Given the description of an element on the screen output the (x, y) to click on. 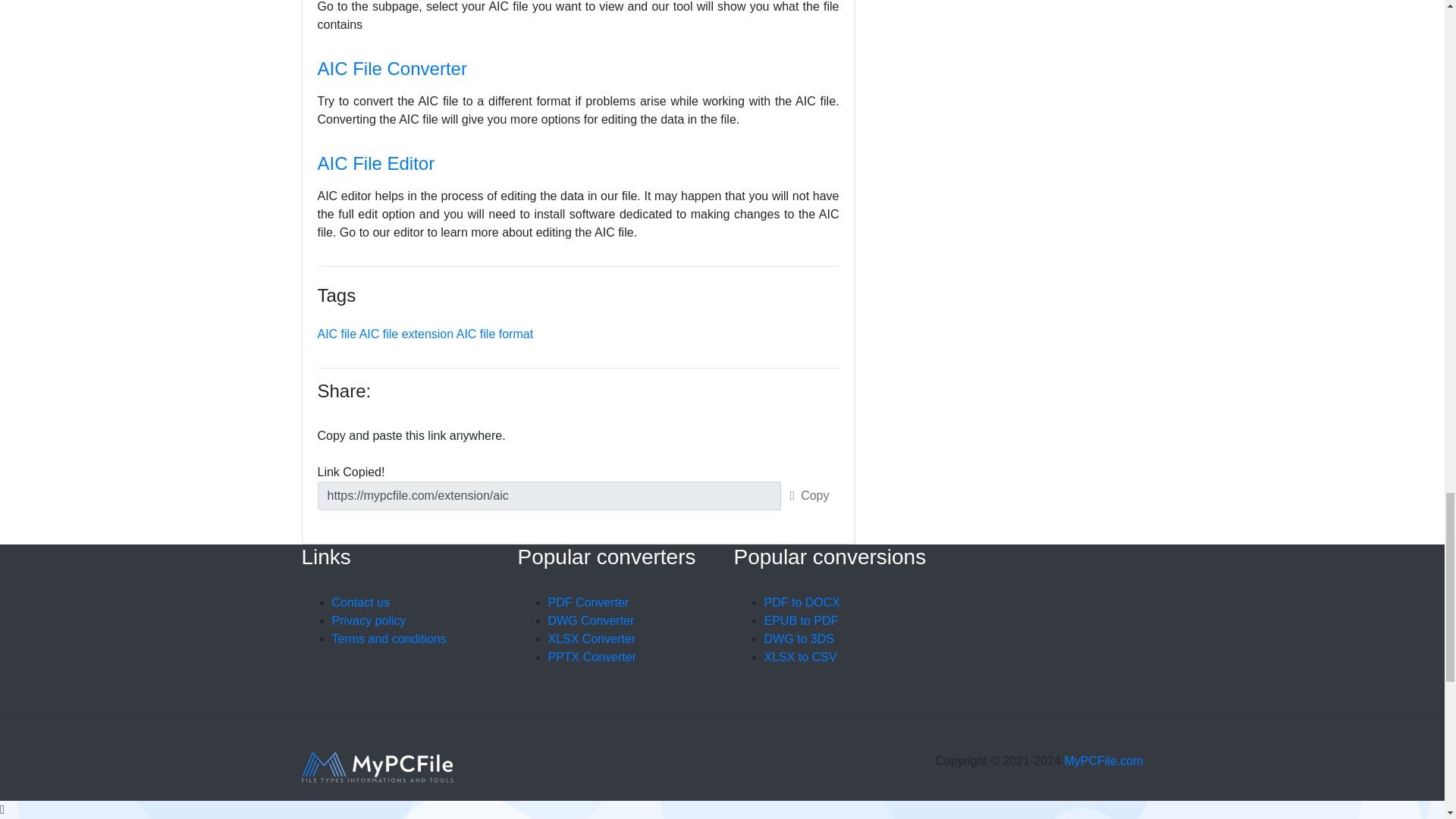
AIC file format (494, 333)
AIC File Converter (391, 68)
AIC File Editor (375, 163)
AIC file extension (406, 333)
AIC file (336, 333)
Copy (810, 495)
